Given the description of an element on the screen output the (x, y) to click on. 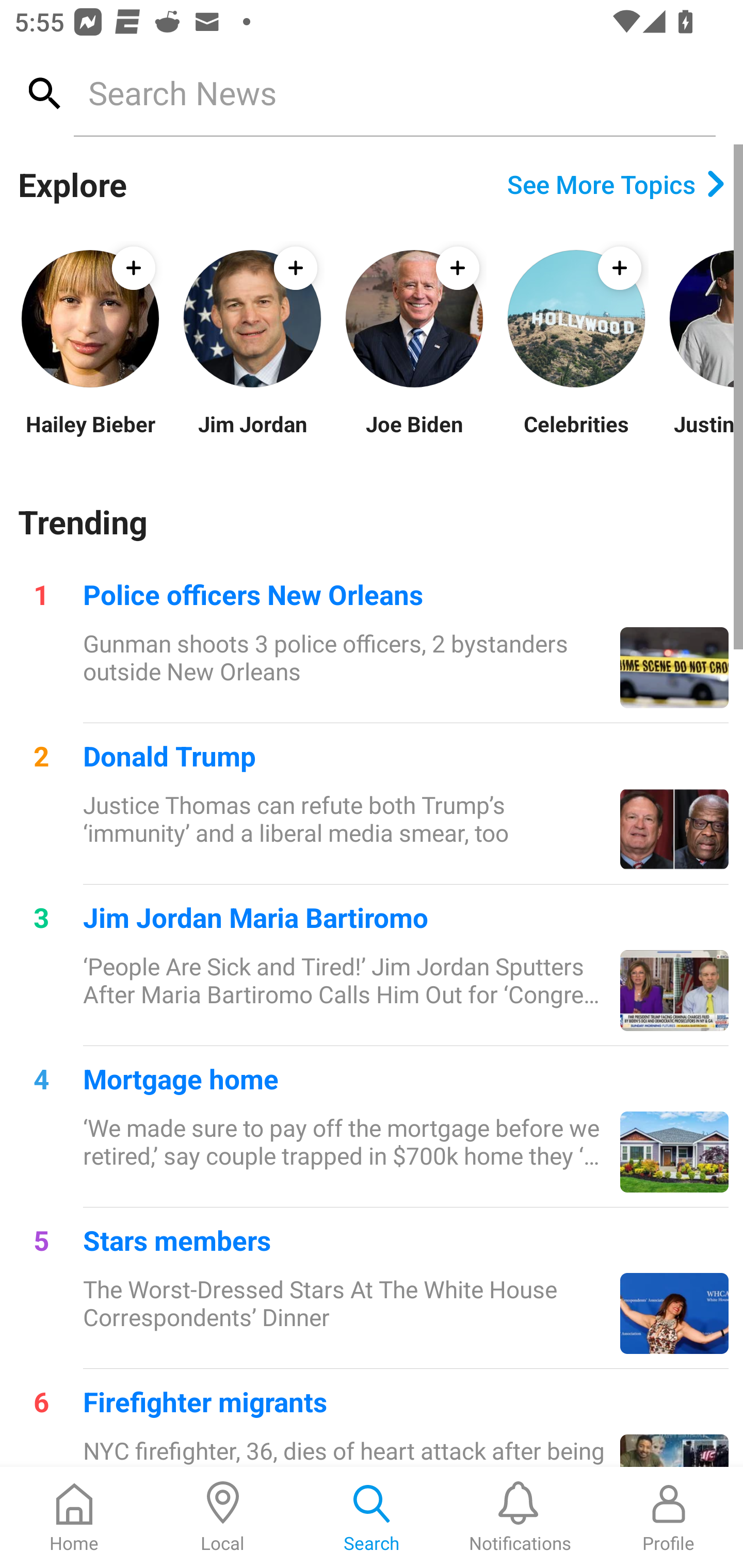
Search News (394, 92)
See More Topics (616, 183)
Hailey Bieber (89, 436)
Jim Jordan (251, 436)
Joe Biden (413, 436)
Celebrities (575, 436)
Home (74, 1517)
Local (222, 1517)
Notifications (519, 1517)
Profile (668, 1517)
